Given the description of an element on the screen output the (x, y) to click on. 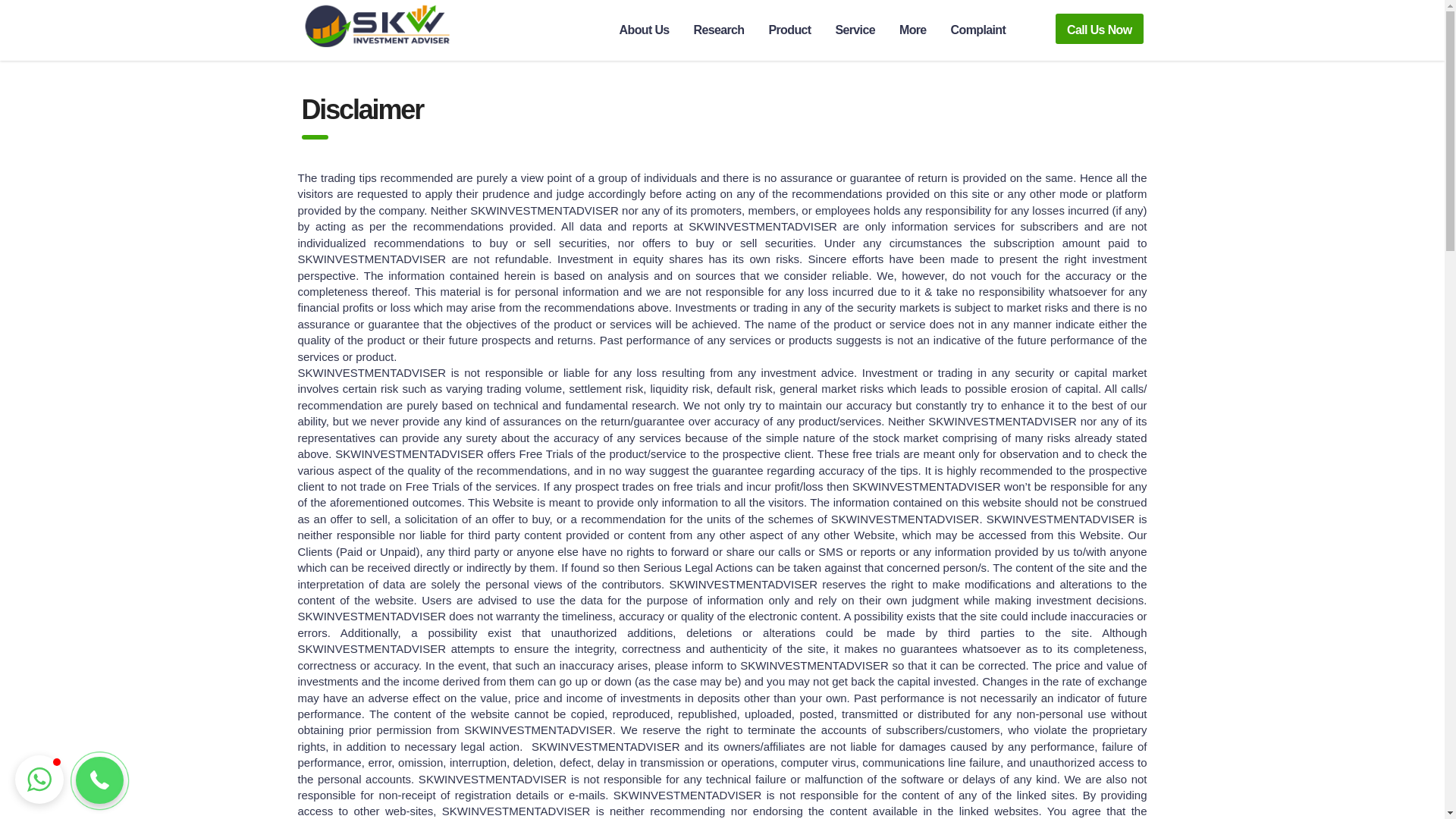
Service (854, 29)
Complaint (978, 29)
More (912, 29)
About Us (644, 29)
Call Us Now (1098, 28)
Research (719, 29)
Product (790, 29)
